Given the description of an element on the screen output the (x, y) to click on. 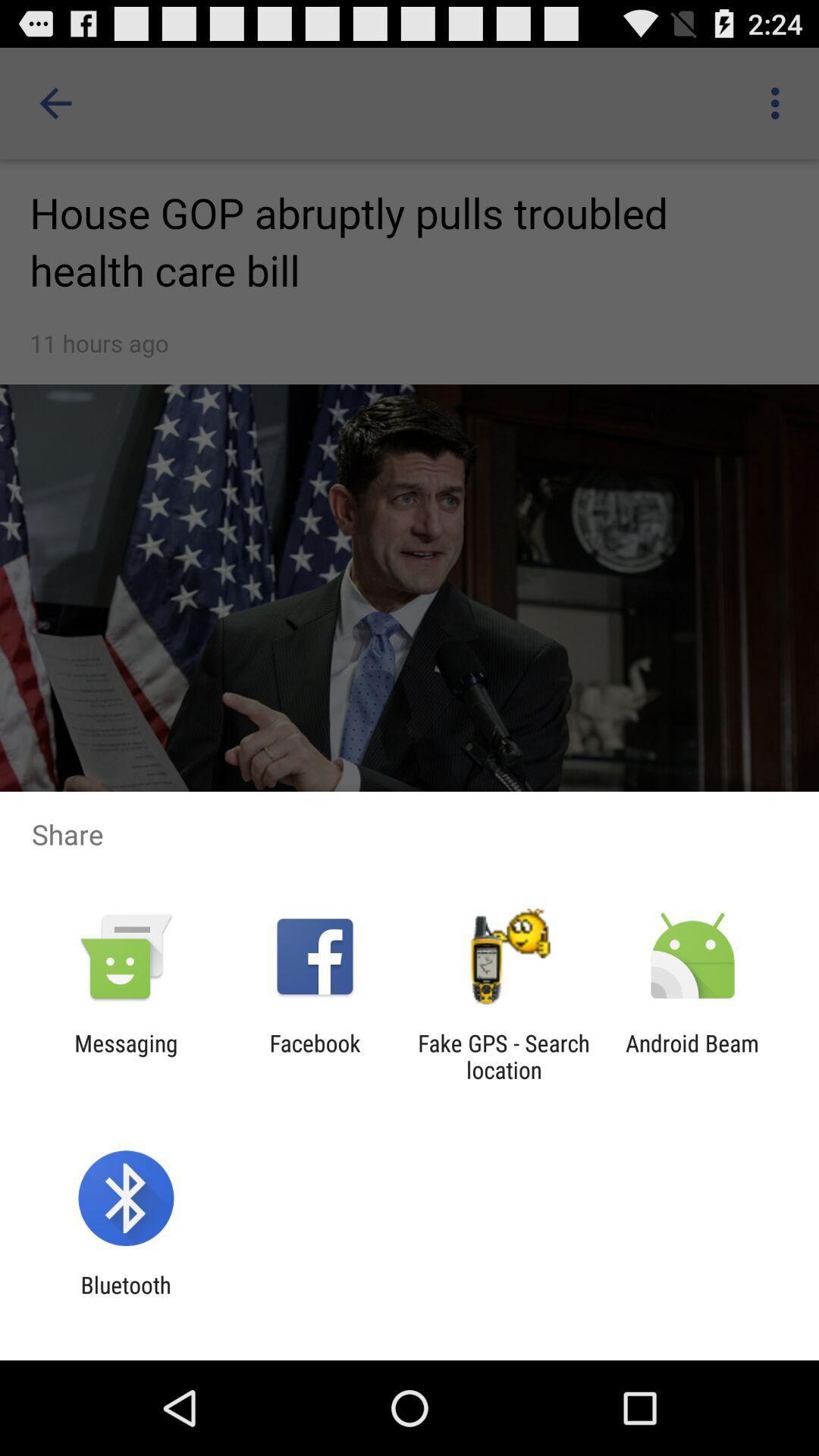
choose app to the left of fake gps search app (314, 1056)
